Given the description of an element on the screen output the (x, y) to click on. 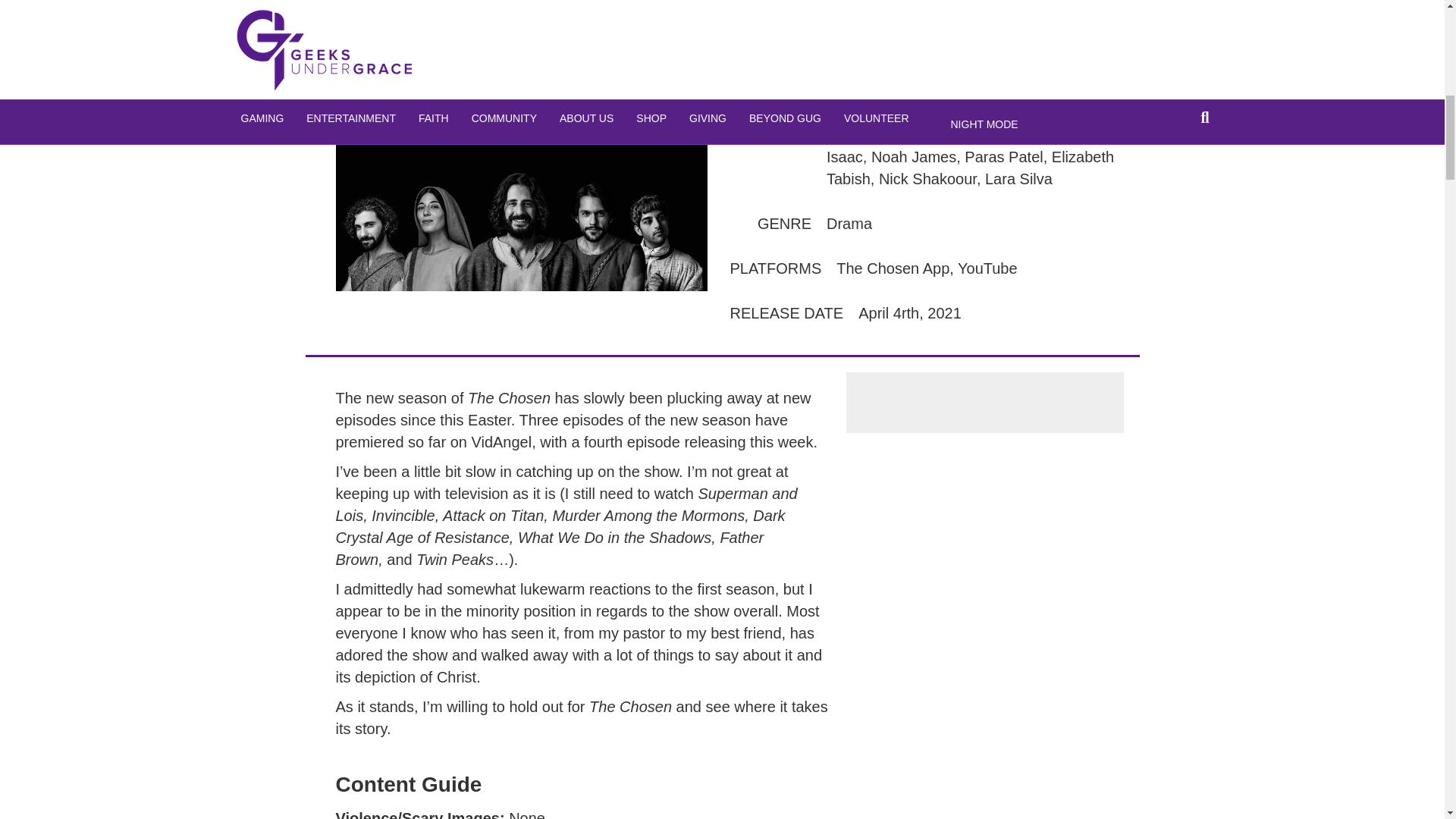
4E19E8A5-EE18-4C5A-9733-78B70121E4E1 (520, 198)
The Chosen: Season 2 Official Trailer (520, 34)
